Given the description of an element on the screen output the (x, y) to click on. 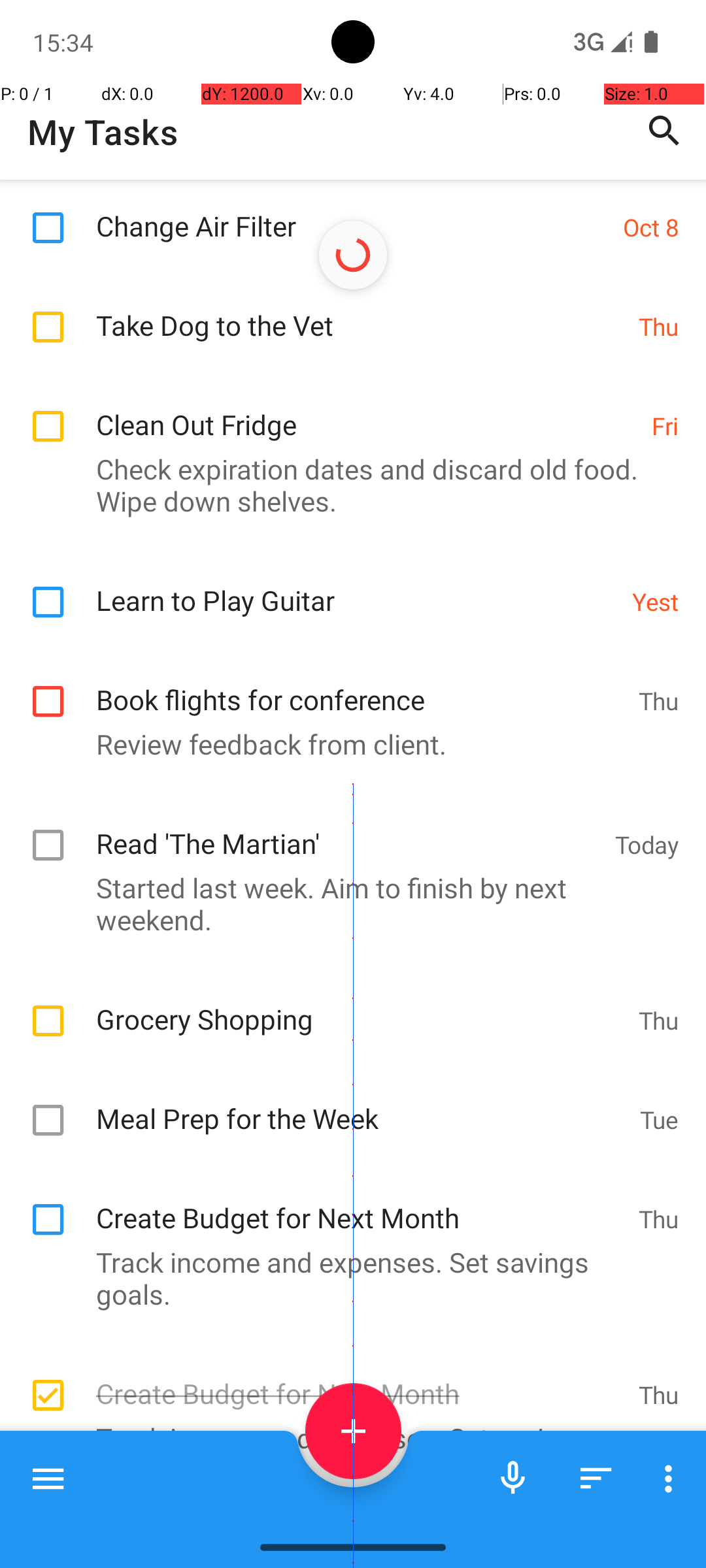
Oct 8 Element type: android.widget.TextView (650, 226)
Take Dog to the Vet Element type: android.widget.TextView (360, 310)
Check expiration dates and discard old food. Wipe down shelves. Element type: android.widget.TextView (346, 484)
Learn to Play Guitar Element type: android.widget.TextView (357, 586)
Book flights for conference Element type: android.widget.TextView (360, 685)
Review feedback from client. Element type: android.widget.TextView (346, 743)
Read 'The Martian' Element type: android.widget.TextView (348, 829)
Started last week. Aim to finish by next weekend. Element type: android.widget.TextView (346, 903)
Track income and expenses. Set savings goals. Element type: android.widget.TextView (346, 1277)
Schedule Dentist Appointment Element type: android.widget.TextView (348, 1524)
